Given the description of an element on the screen output the (x, y) to click on. 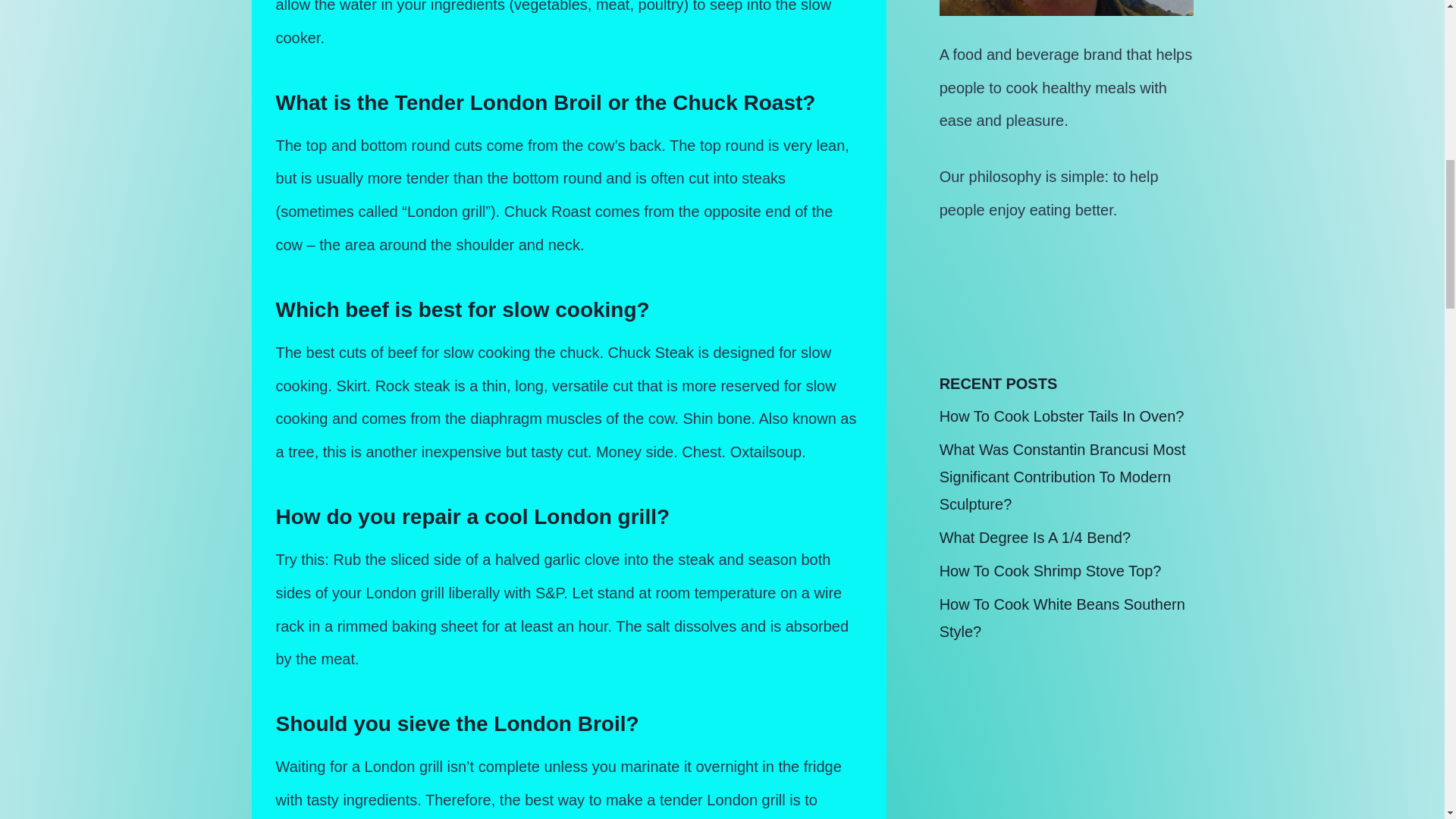
How To Cook Lobster Tails In Oven? (1062, 416)
How To Cook Shrimp Stove Top? (1050, 570)
How To Cook White Beans Southern Style? (1062, 617)
